Given the description of an element on the screen output the (x, y) to click on. 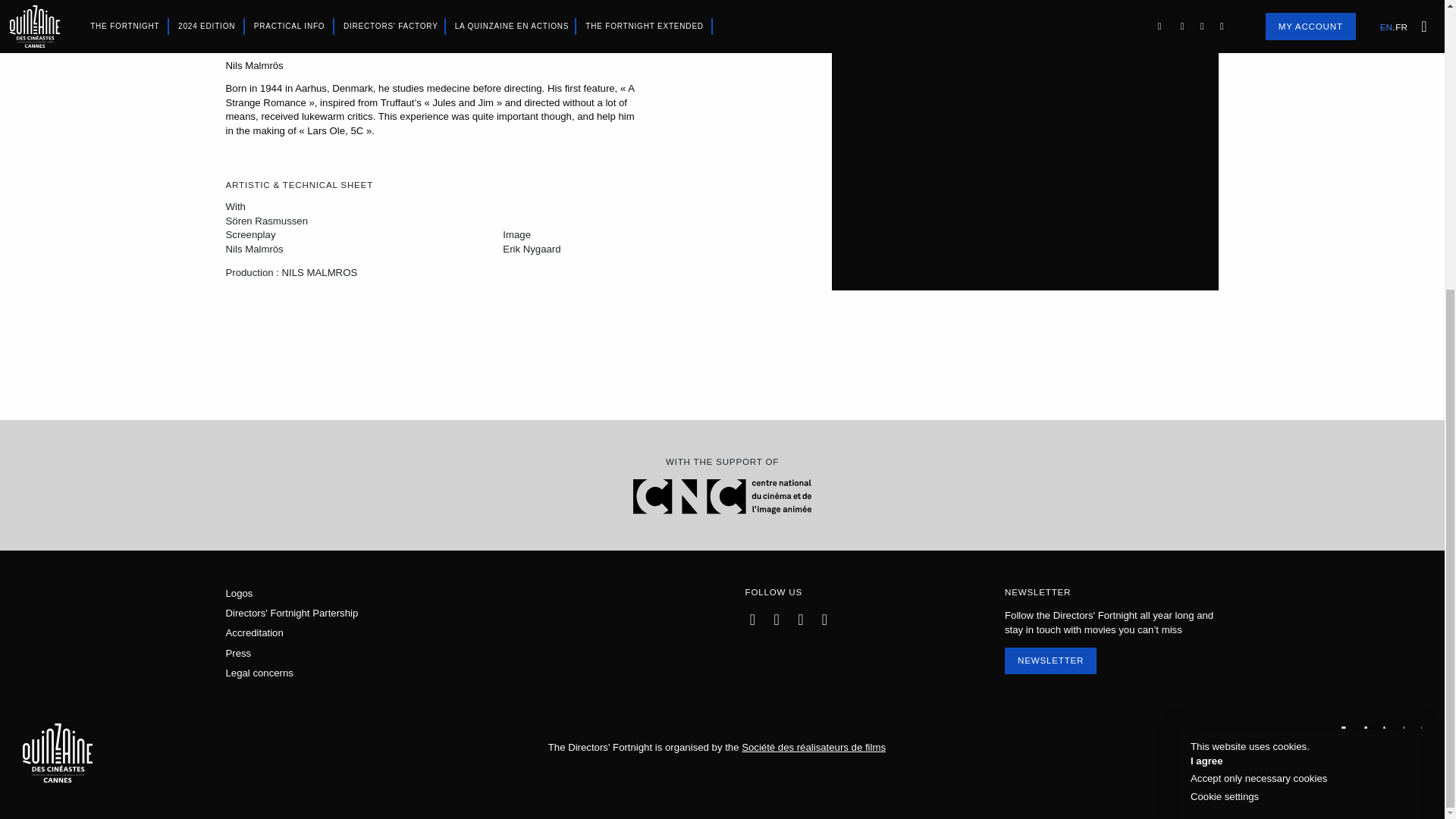
Logos (239, 592)
Legal concerns (259, 672)
Press (238, 653)
Directors' Fortnight Partership (291, 613)
Accreditation (254, 632)
